Given the description of an element on the screen output the (x, y) to click on. 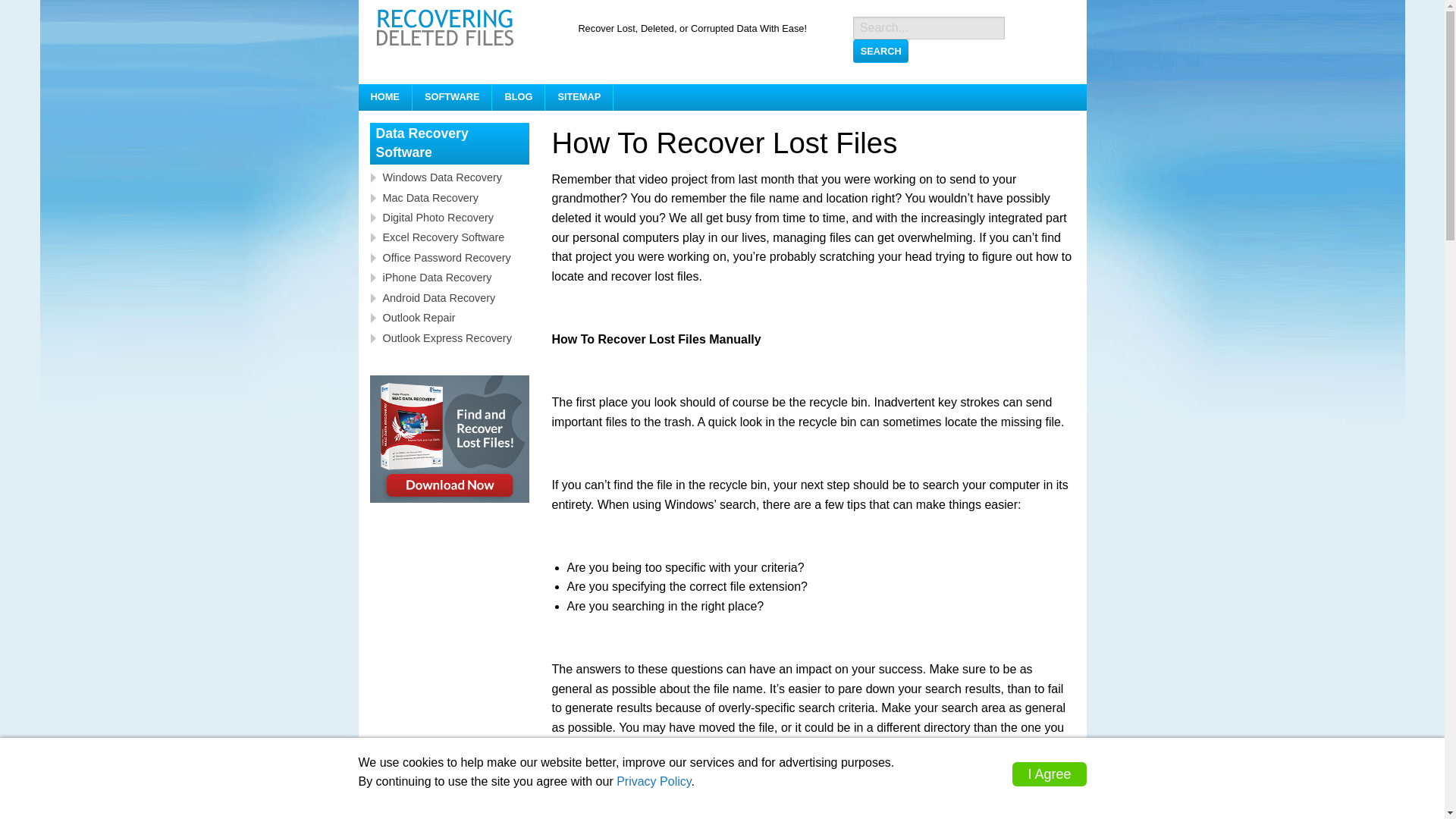
Android Data Recovery (452, 297)
SEARCH (880, 50)
Outlook Express Recovery (452, 337)
iPhone Data Recovery (452, 276)
SEARCH (880, 50)
Office Password Recovery (452, 257)
Digital Photo Recovery (452, 217)
Excel Recovery Software (452, 236)
Outlook Repair (452, 317)
SEARCH (880, 50)
Mac Data Recovery (452, 197)
BLOG (518, 97)
Search for: (928, 27)
Windows Data Recovery (452, 176)
SITEMAP (578, 97)
